Given the description of an element on the screen output the (x, y) to click on. 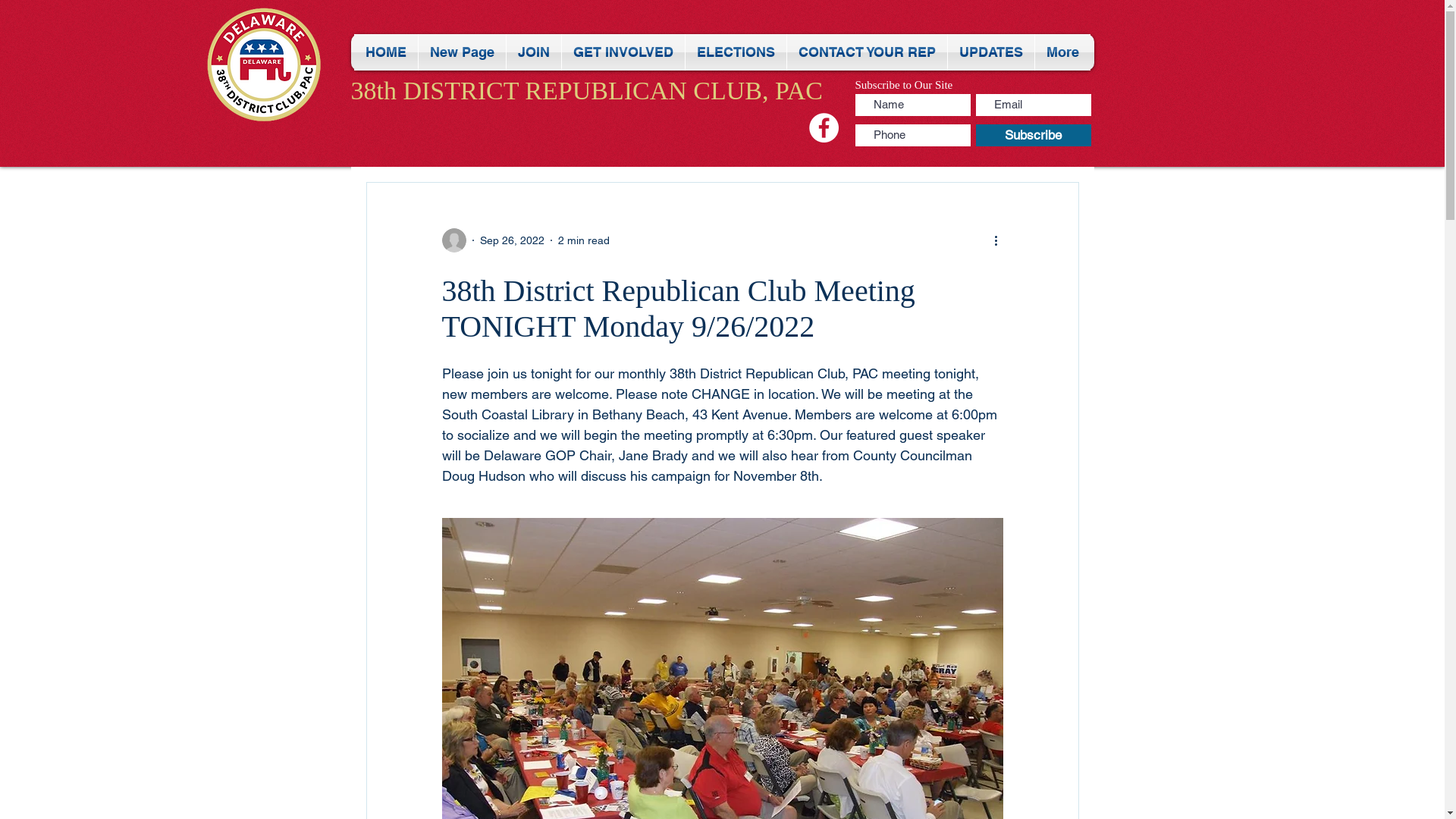
GET INVOLVED Element type: text (622, 52)
New Page Element type: text (461, 52)
CONTACT YOUR REP Element type: text (867, 52)
HOME Element type: text (385, 52)
JOIN Element type: text (533, 52)
UPDATES Element type: text (990, 52)
ELECTIONS Element type: text (735, 52)
Subscribe Element type: text (1032, 135)
